Given the description of an element on the screen output the (x, y) to click on. 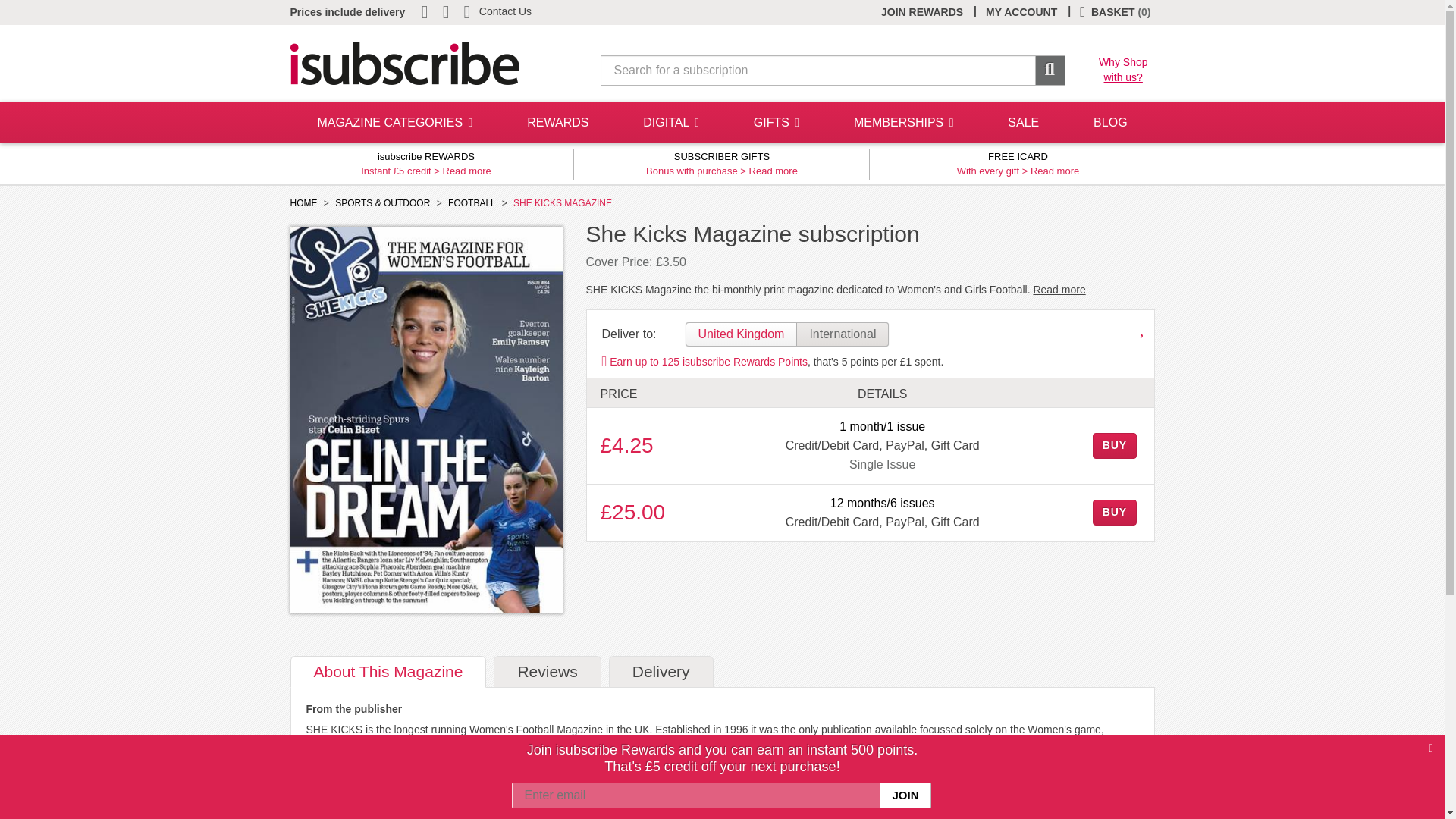
Prices include delivery (346, 11)
JOIN (904, 795)
isubscribe Blog (468, 10)
Add to Wishlist (1143, 329)
She Kicks Magazine subscription (425, 419)
JOIN REWARDS (921, 12)
isubscribe on Instagram (447, 10)
International Delivery (1123, 69)
MAGAZINE CATEGORIES (842, 334)
MY ACCOUNT (394, 122)
United Kingdom Delivery (1021, 12)
Contact Us (741, 334)
isubscribe on Facebook (505, 10)
